Given the description of an element on the screen output the (x, y) to click on. 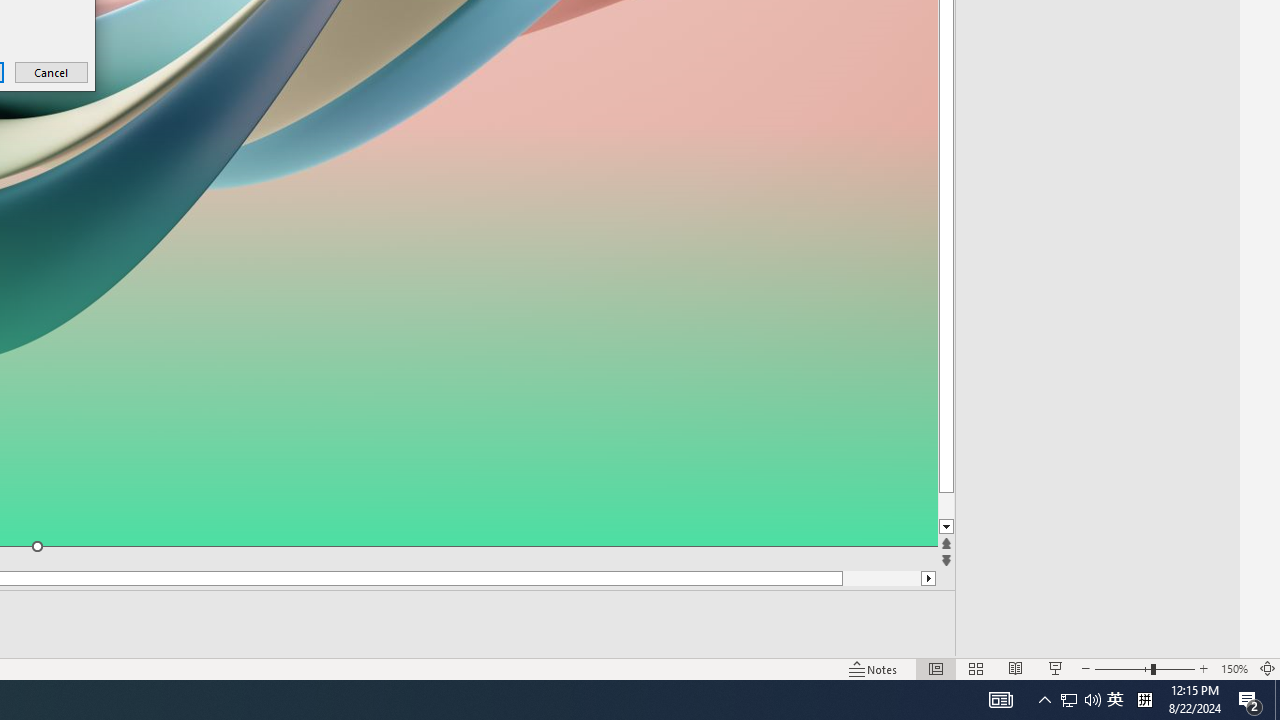
Zoom 150% (1234, 668)
